Given the description of an element on the screen output the (x, y) to click on. 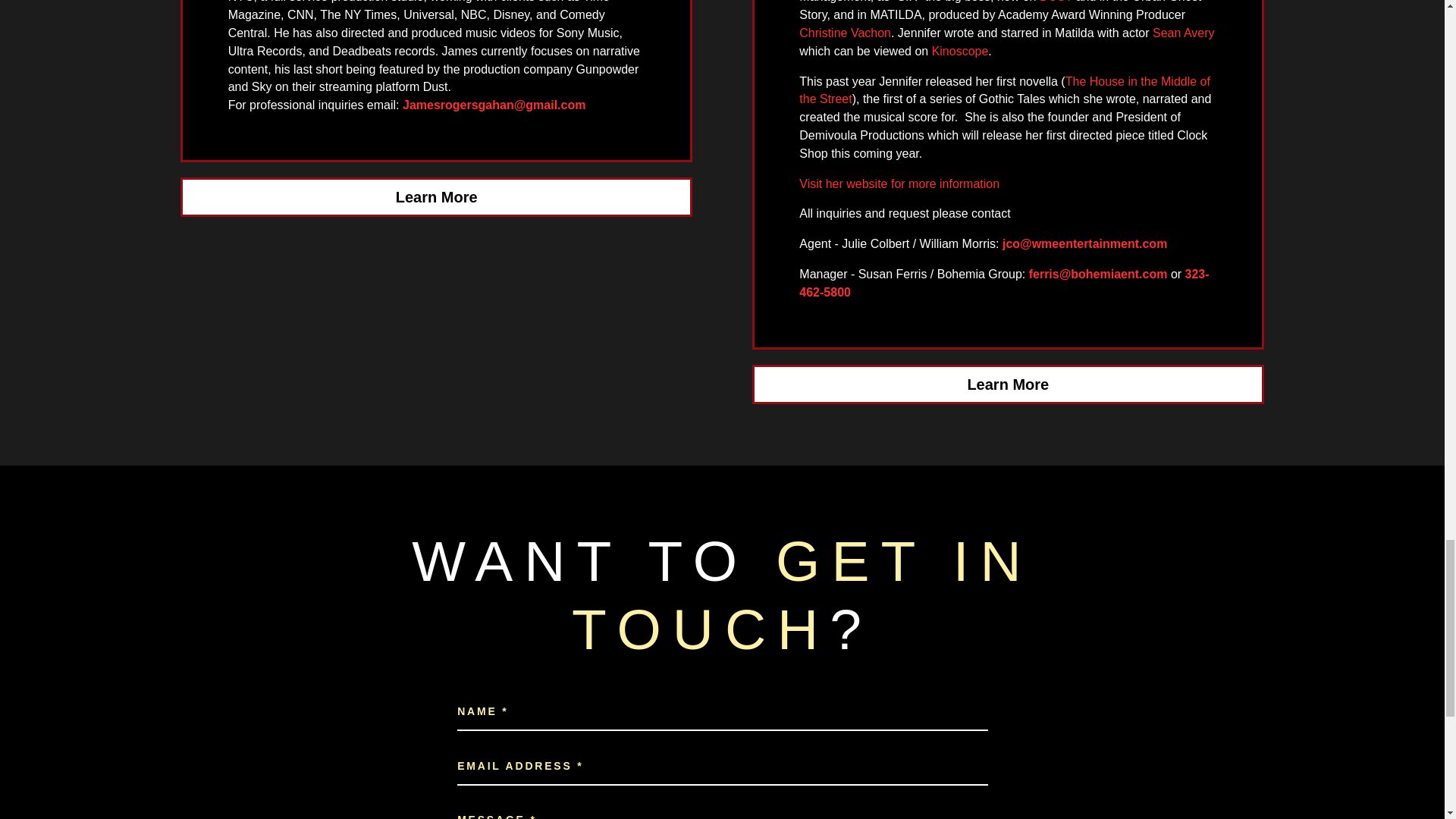
DUST (1055, 1)
Learn More (436, 197)
Visit her website for more information (898, 183)
Christine Vachon (845, 32)
323-462-5800 (1003, 282)
Kinoscope (959, 51)
Sean Avery (1183, 32)
The House in the Middle of the Street (1004, 90)
Learn More (1007, 383)
